Given the description of an element on the screen output the (x, y) to click on. 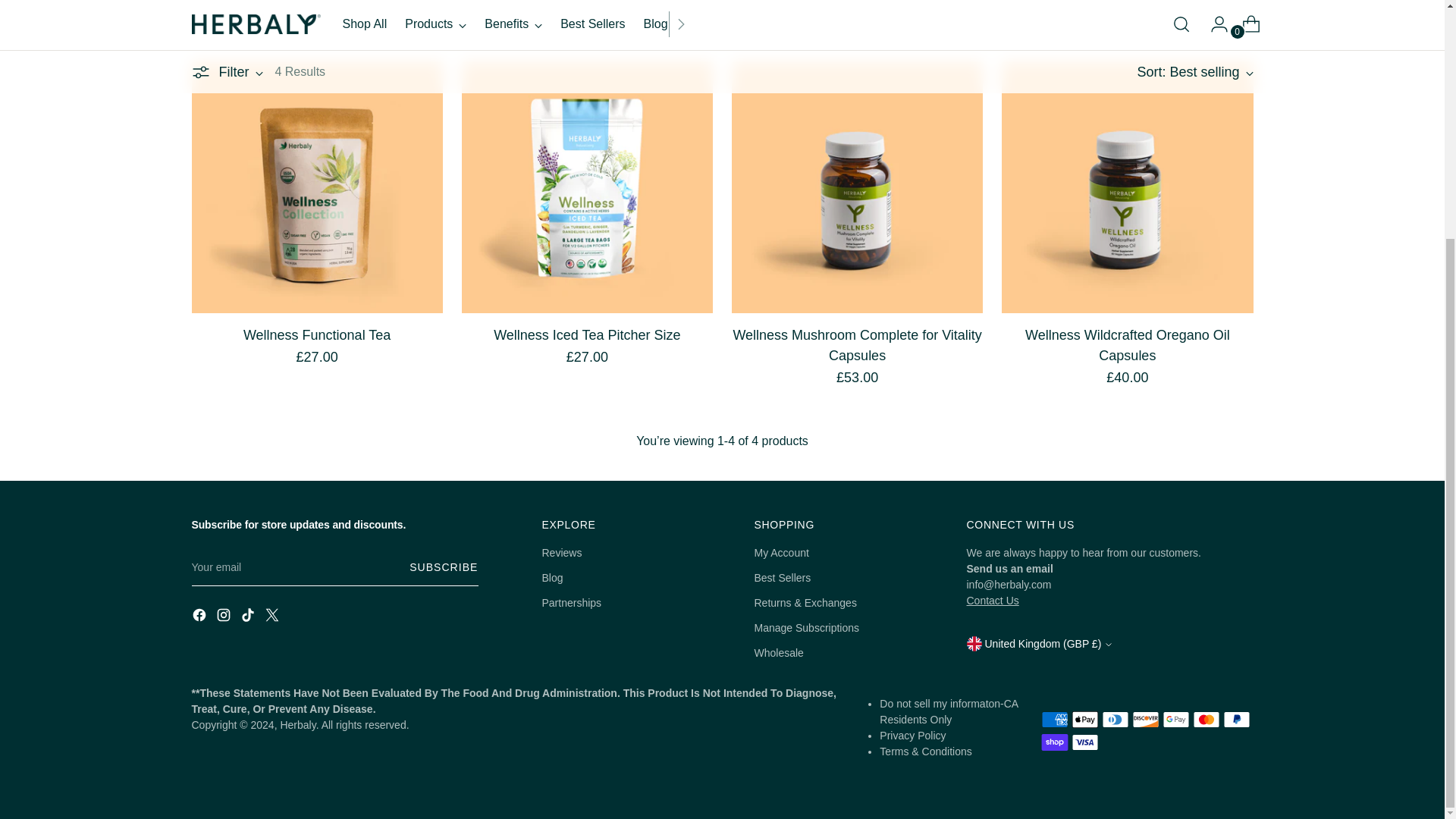
Herbaly on Instagram (223, 617)
Herbaly on Twitter (272, 617)
Herbaly on Facebook (199, 617)
Contact (991, 600)
Herbaly on Tiktok (248, 617)
